Given the description of an element on the screen output the (x, y) to click on. 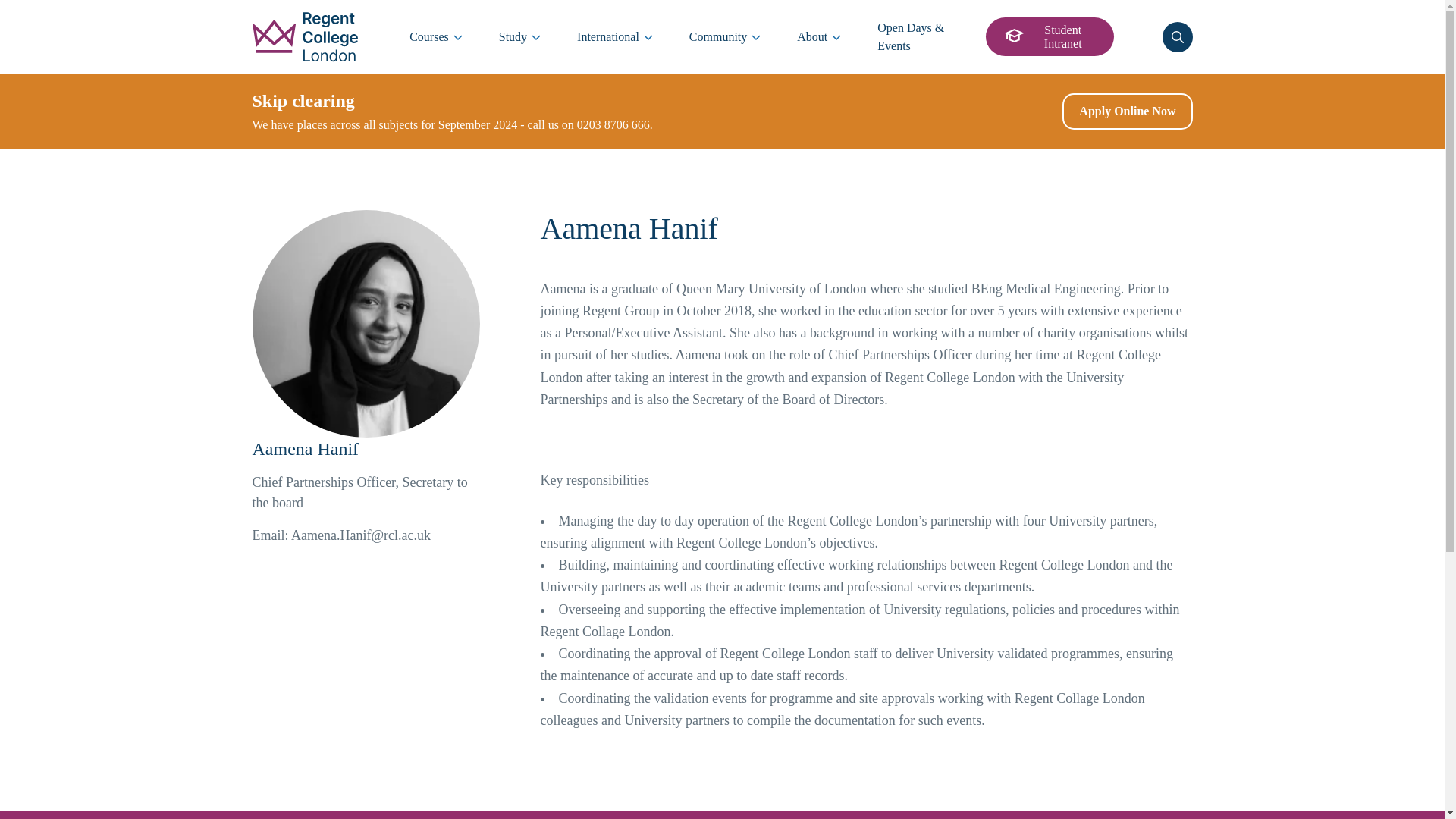
Study (519, 37)
International (615, 37)
Courses (435, 37)
